Given the description of an element on the screen output the (x, y) to click on. 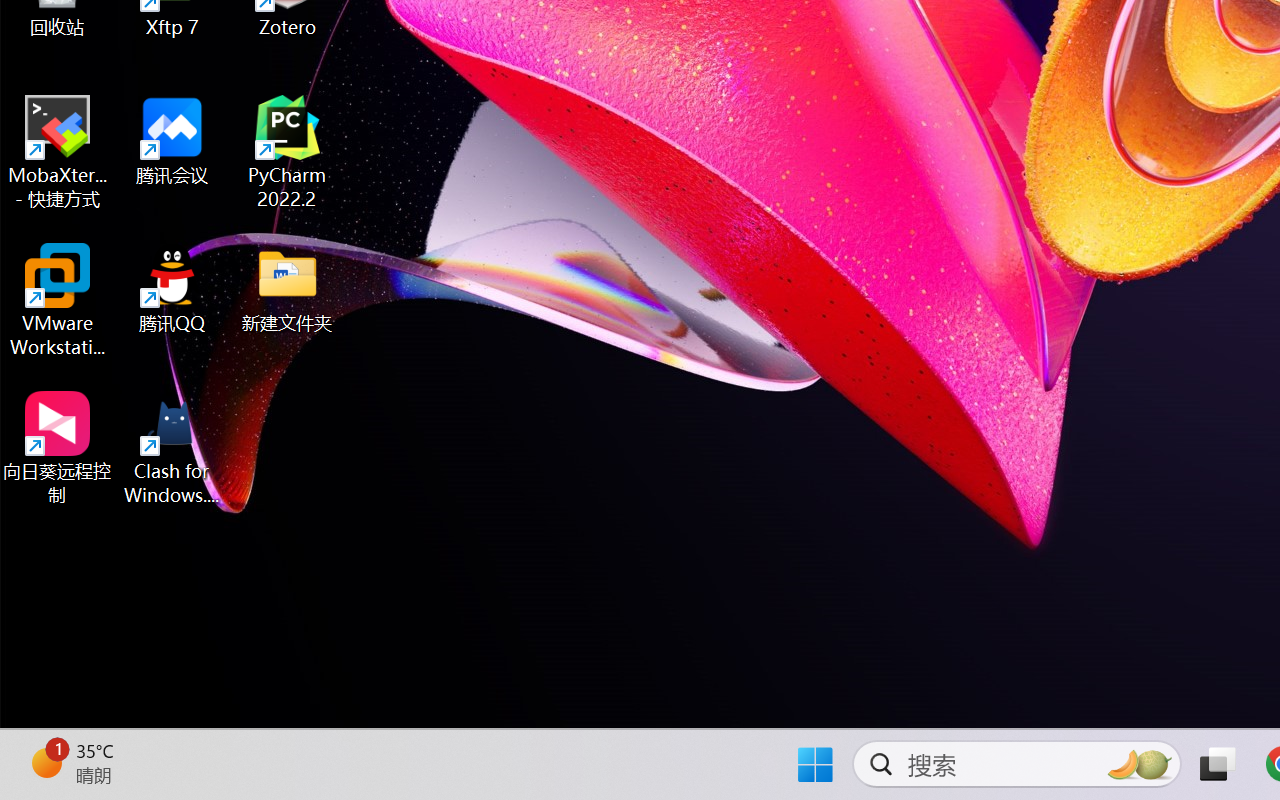
VMware Workstation Pro (57, 300)
PyCharm 2022.2 (287, 152)
